Given the description of an element on the screen output the (x, y) to click on. 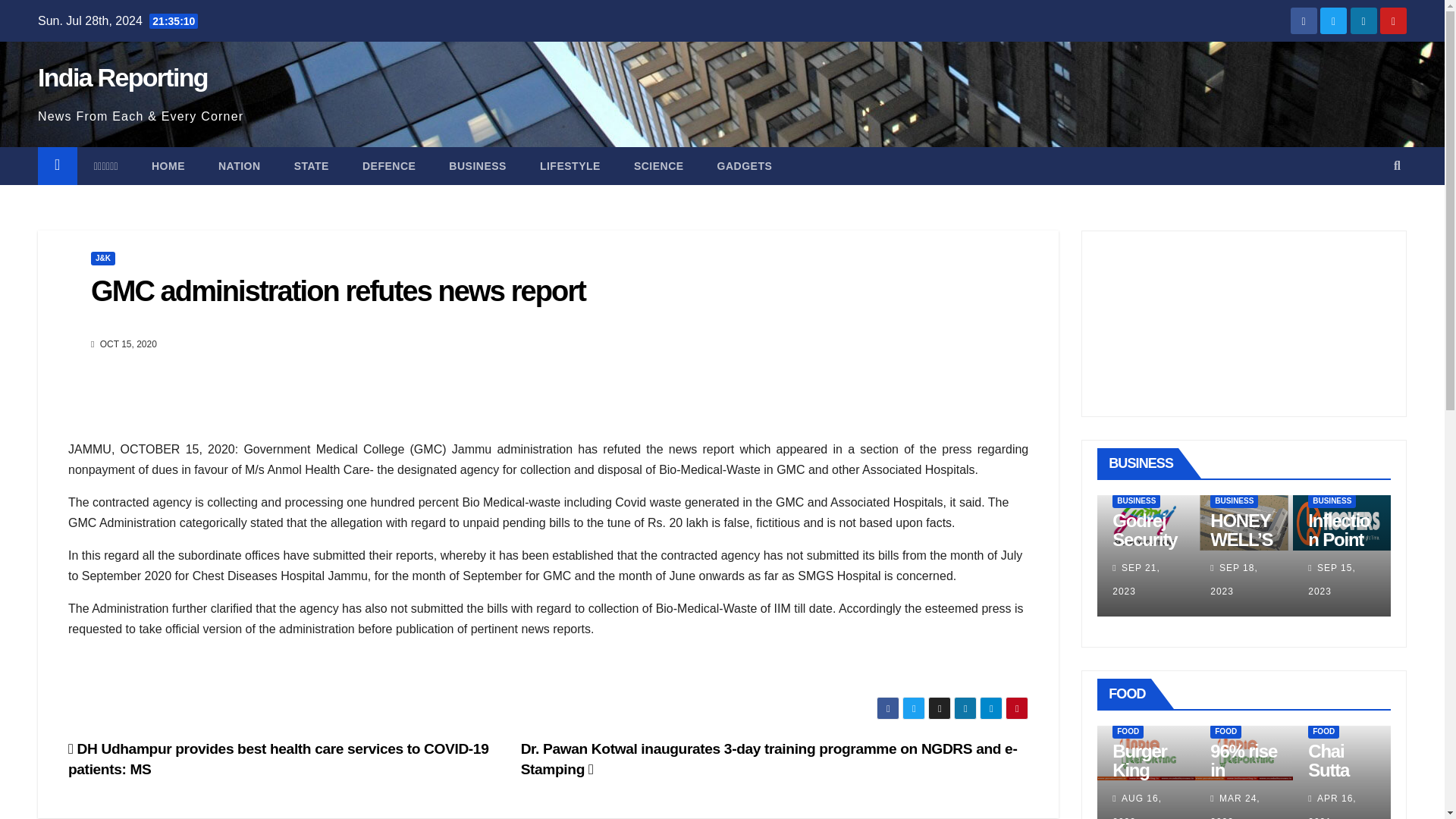
India Reporting (122, 77)
BUSINESS (1136, 500)
BUSINESS (477, 166)
Lifestyle (569, 166)
Gadgets (744, 166)
SEP 21, 2023 (1136, 579)
DEFENCE (389, 166)
NATION (240, 166)
Business (477, 166)
Defence (389, 166)
Science (658, 166)
GADGETS (744, 166)
SCIENCE (658, 166)
